Given the description of an element on the screen output the (x, y) to click on. 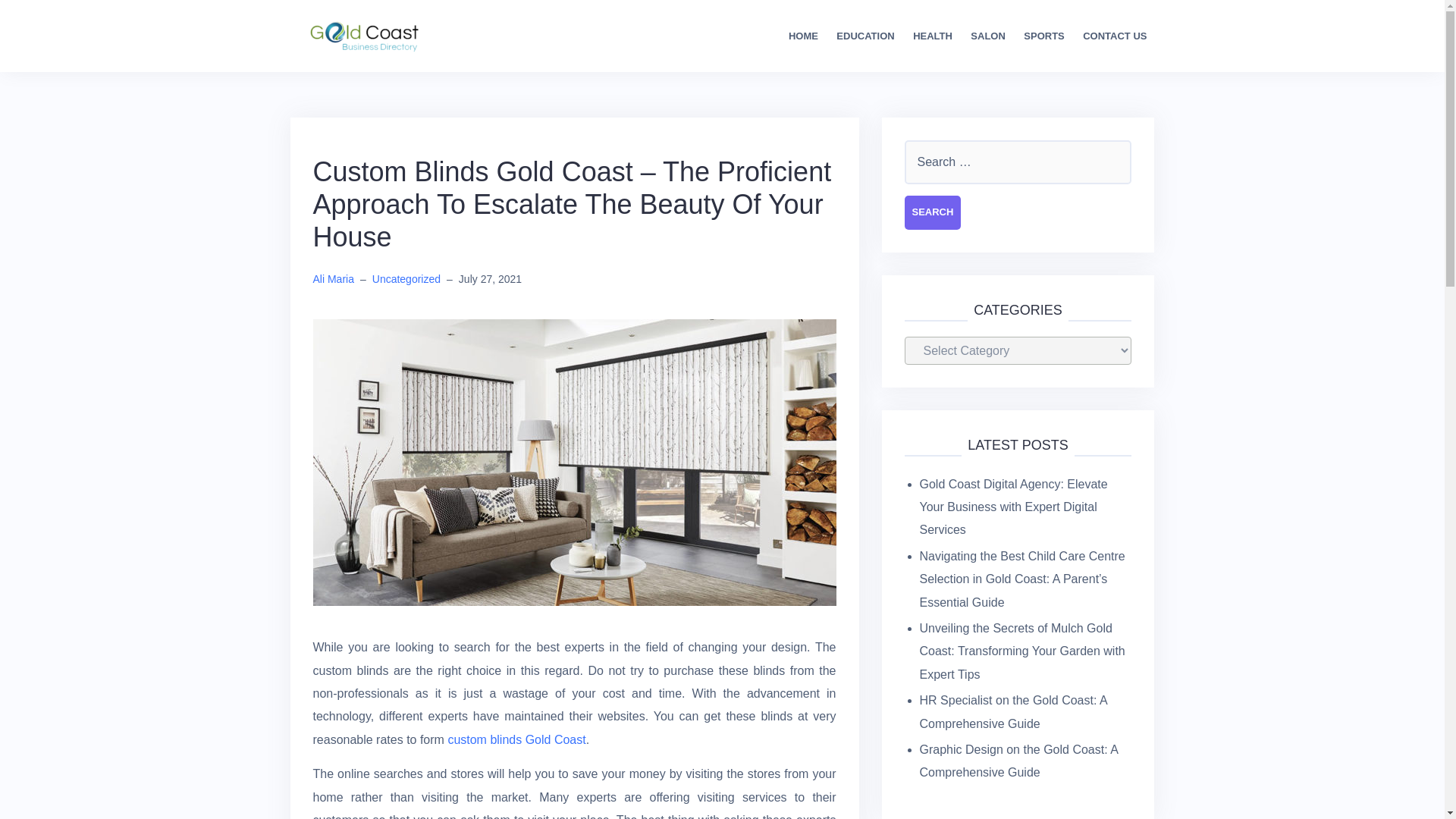
Ali Maria (333, 278)
custom blinds Gold Coast (515, 739)
Uncategorized (406, 278)
Graphic Design on the Gold Coast: A Comprehensive Guide (1017, 760)
HOME (803, 36)
Search (932, 212)
HR Specialist on the Gold Coast: A Comprehensive Guide (1012, 711)
CONTACT US (1115, 36)
Search (932, 212)
